Given the description of an element on the screen output the (x, y) to click on. 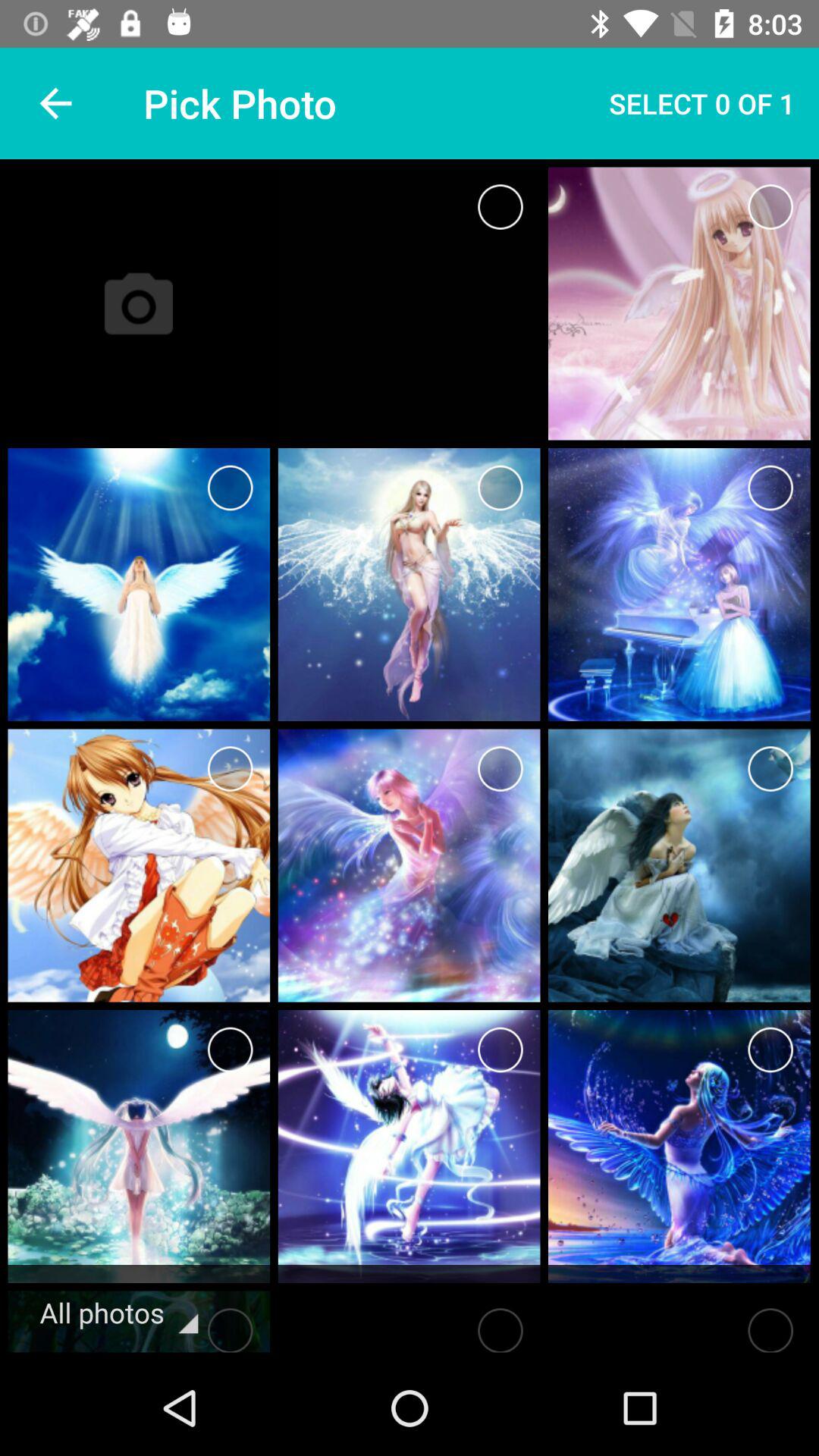
turn off the item to the right of pick photo (702, 103)
